Given the description of an element on the screen output the (x, y) to click on. 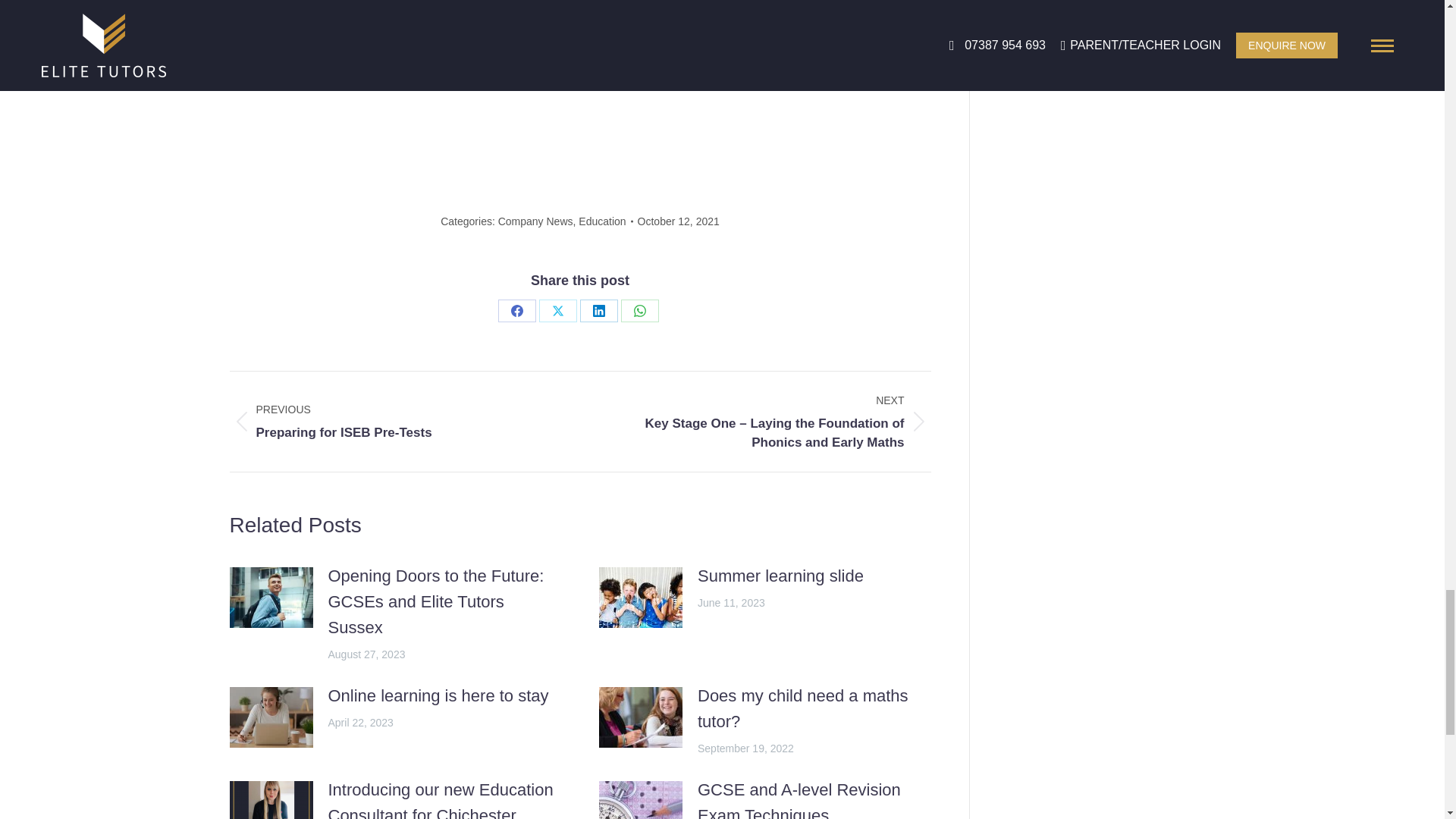
WhatsApp (640, 310)
6:17 pm (678, 220)
X (557, 310)
Facebook (516, 310)
LinkedIn (598, 310)
